Given the description of an element on the screen output the (x, y) to click on. 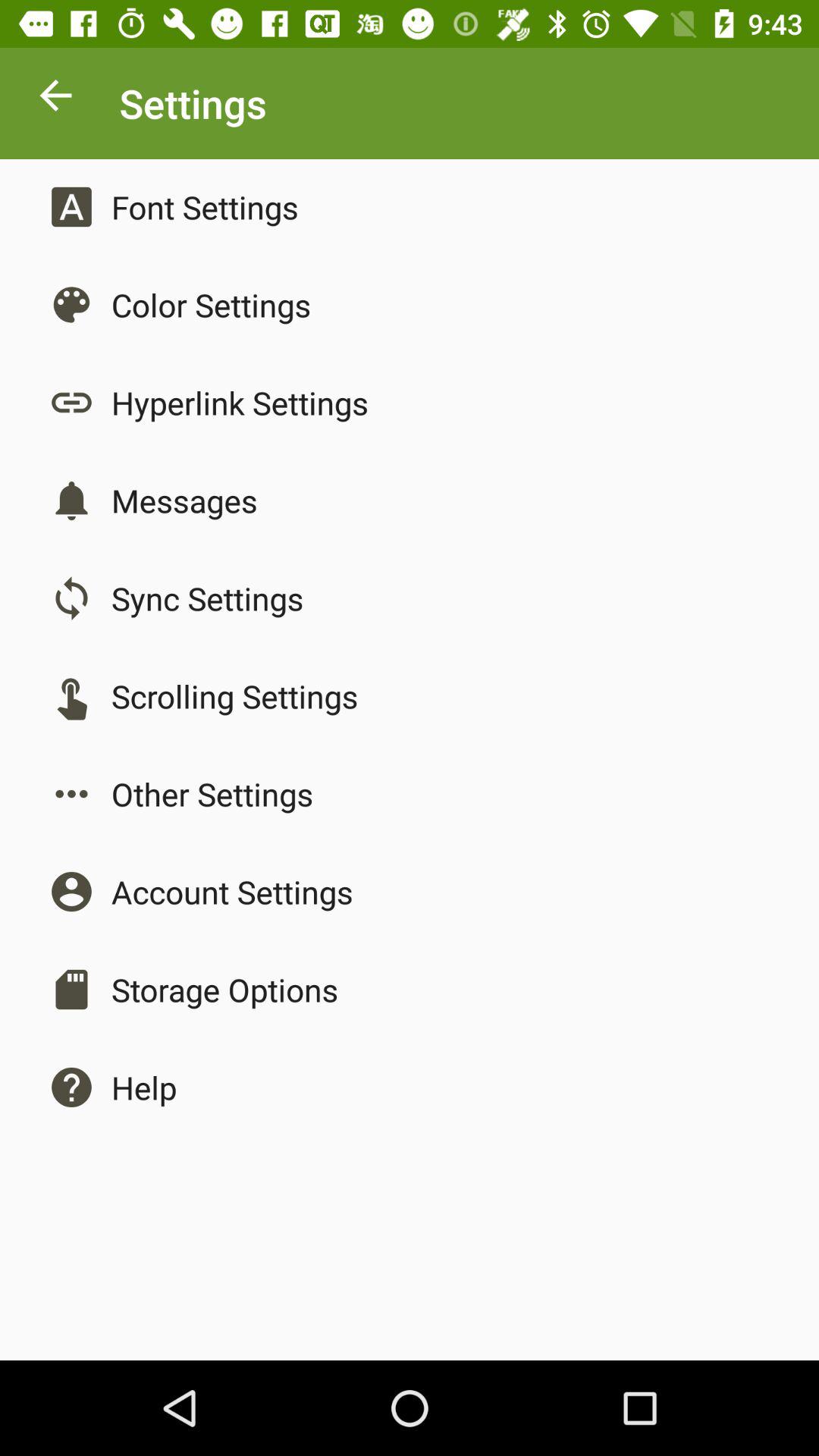
open the item above the scrolling settings (207, 597)
